Given the description of an element on the screen output the (x, y) to click on. 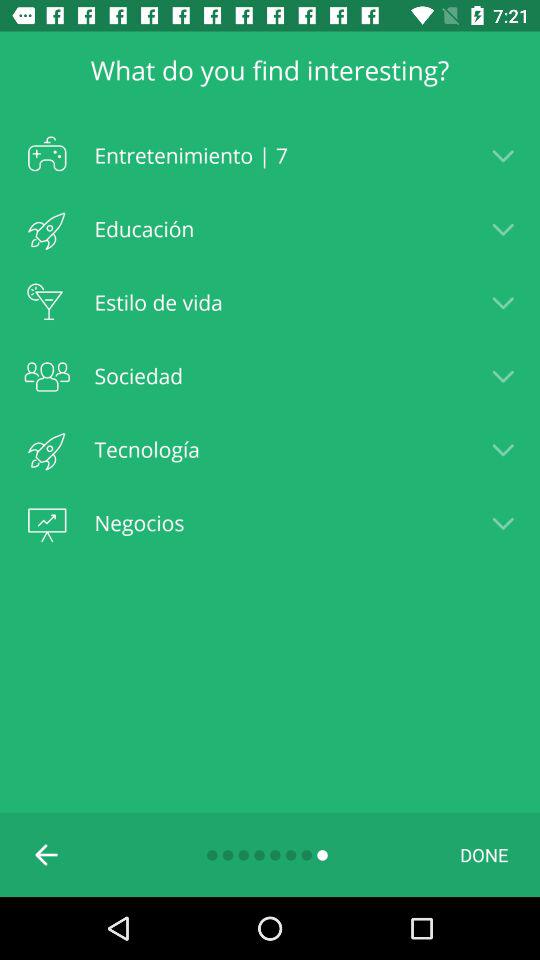
launch icon below negocios item (484, 854)
